Given the description of an element on the screen output the (x, y) to click on. 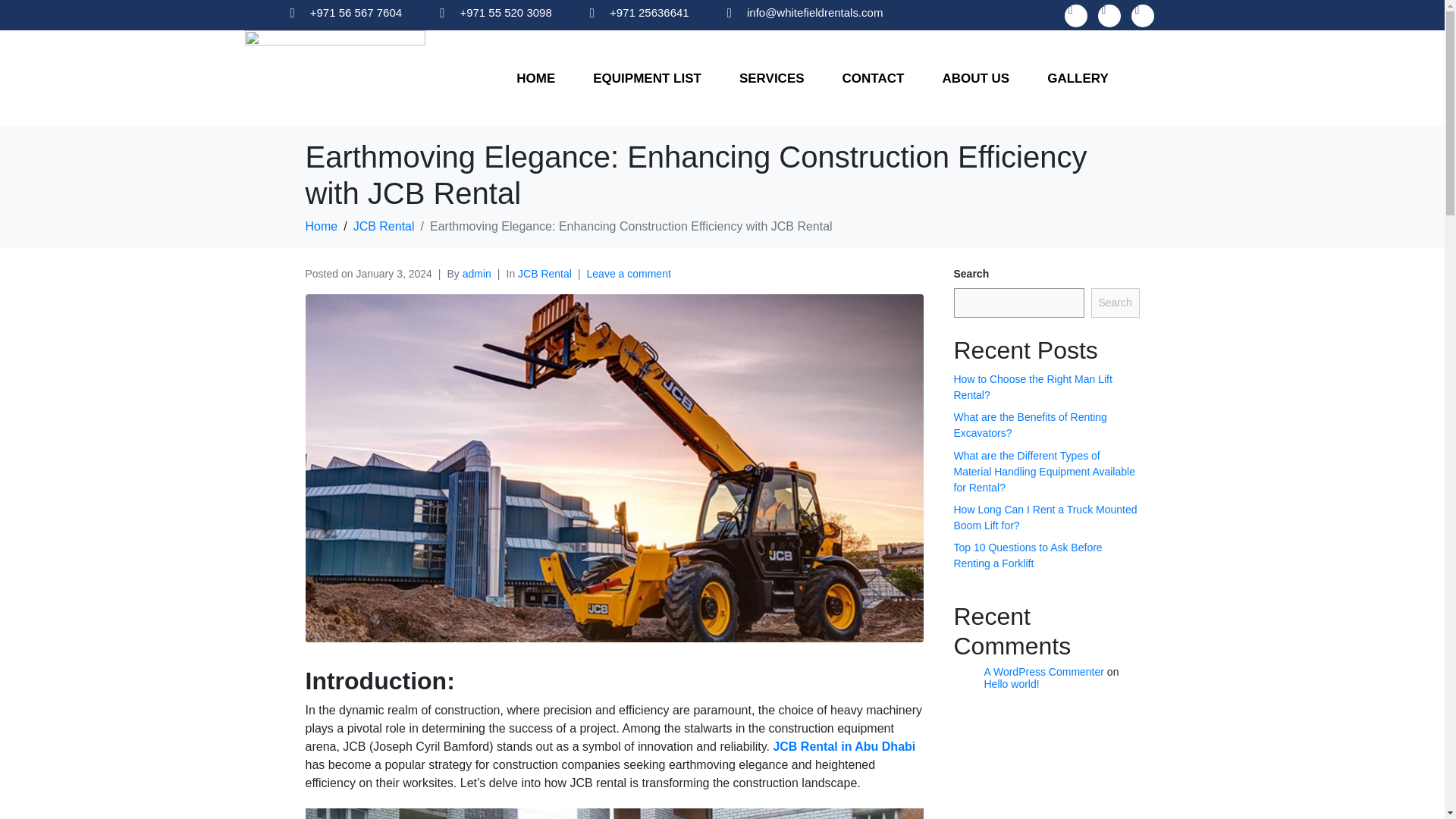
HOME (535, 78)
EQUIPMENT LIST (647, 78)
CONTACT (873, 78)
SERVICES (771, 78)
GALLERY (1078, 78)
ABOUT US (975, 78)
